Given the description of an element on the screen output the (x, y) to click on. 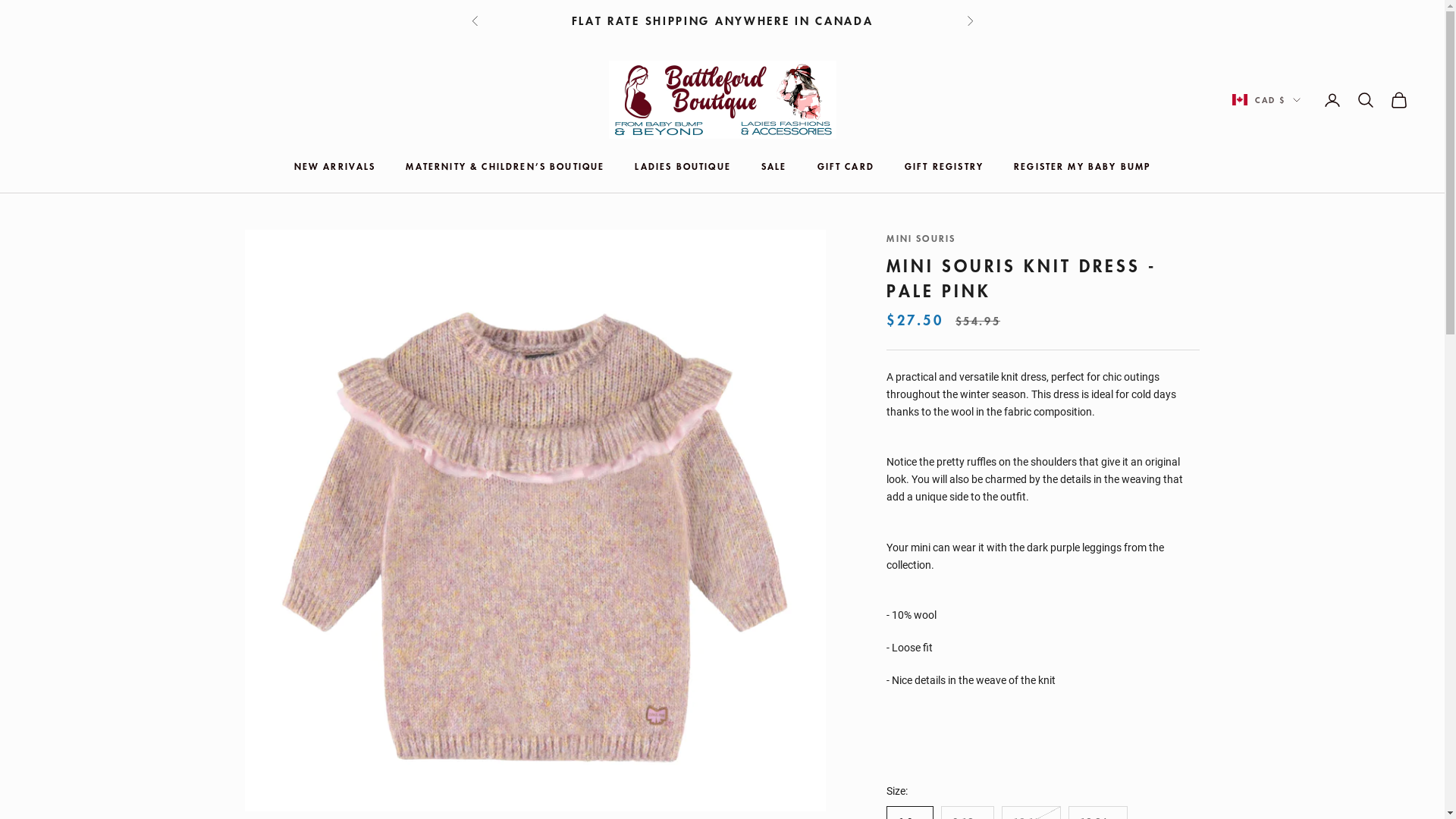
Open cart Element type: text (1399, 100)
Open search Element type: text (1365, 100)
Battleford Boutique Element type: text (721, 100)
GIFT REGISTRY Element type: text (943, 165)
NEW ARRIVALS Element type: text (335, 165)
GIFT CARD Element type: text (845, 165)
Previous Element type: text (474, 20)
MINI SOURIS Element type: text (920, 237)
Open account page Element type: text (1332, 100)
CAD $ Element type: text (1266, 99)
SALE Element type: text (774, 165)
Next Element type: text (968, 20)
REGISTER MY BABY BUMP Element type: text (1081, 165)
